Given the description of an element on the screen output the (x, y) to click on. 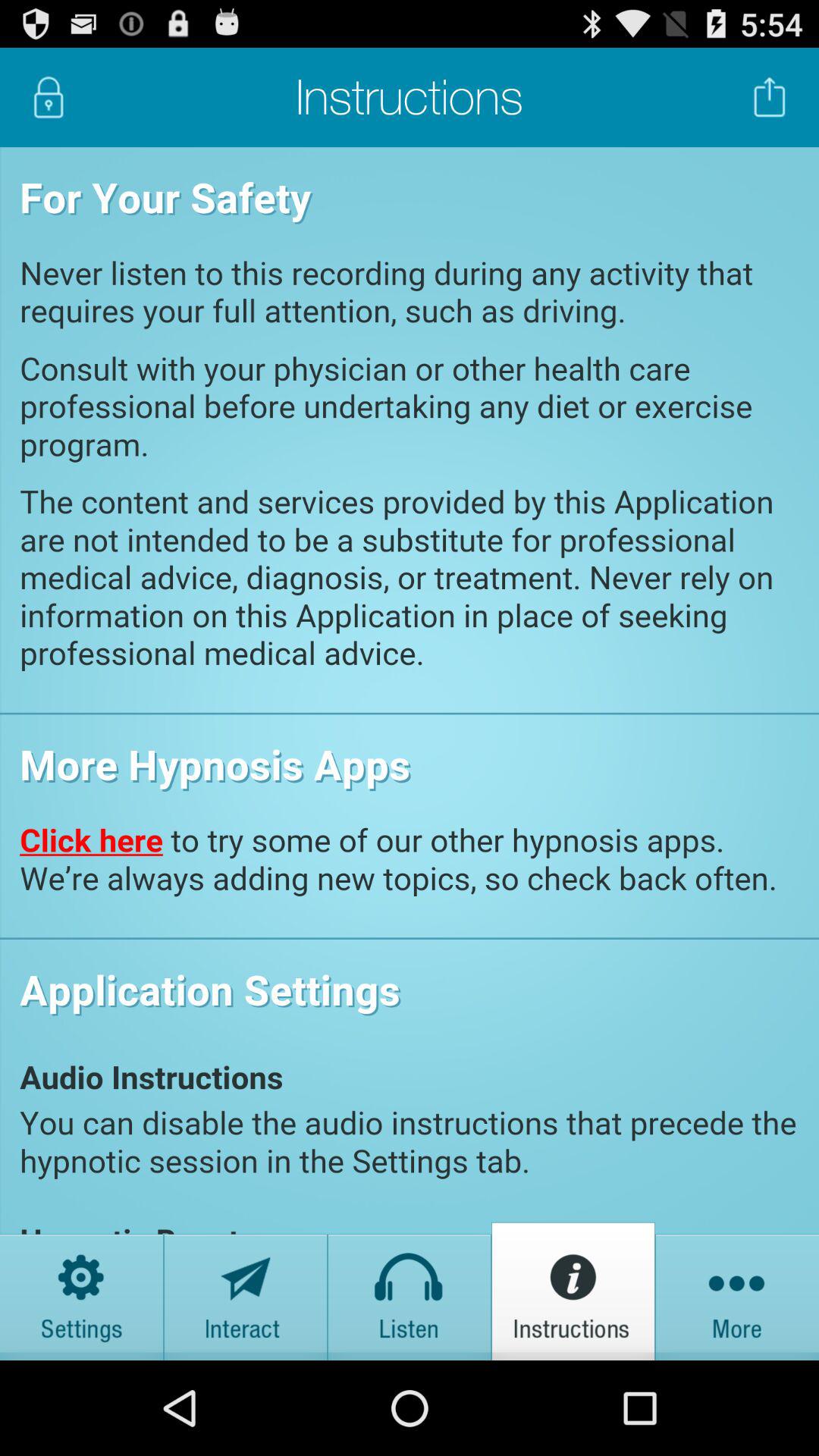
lock screen (49, 97)
